Given the description of an element on the screen output the (x, y) to click on. 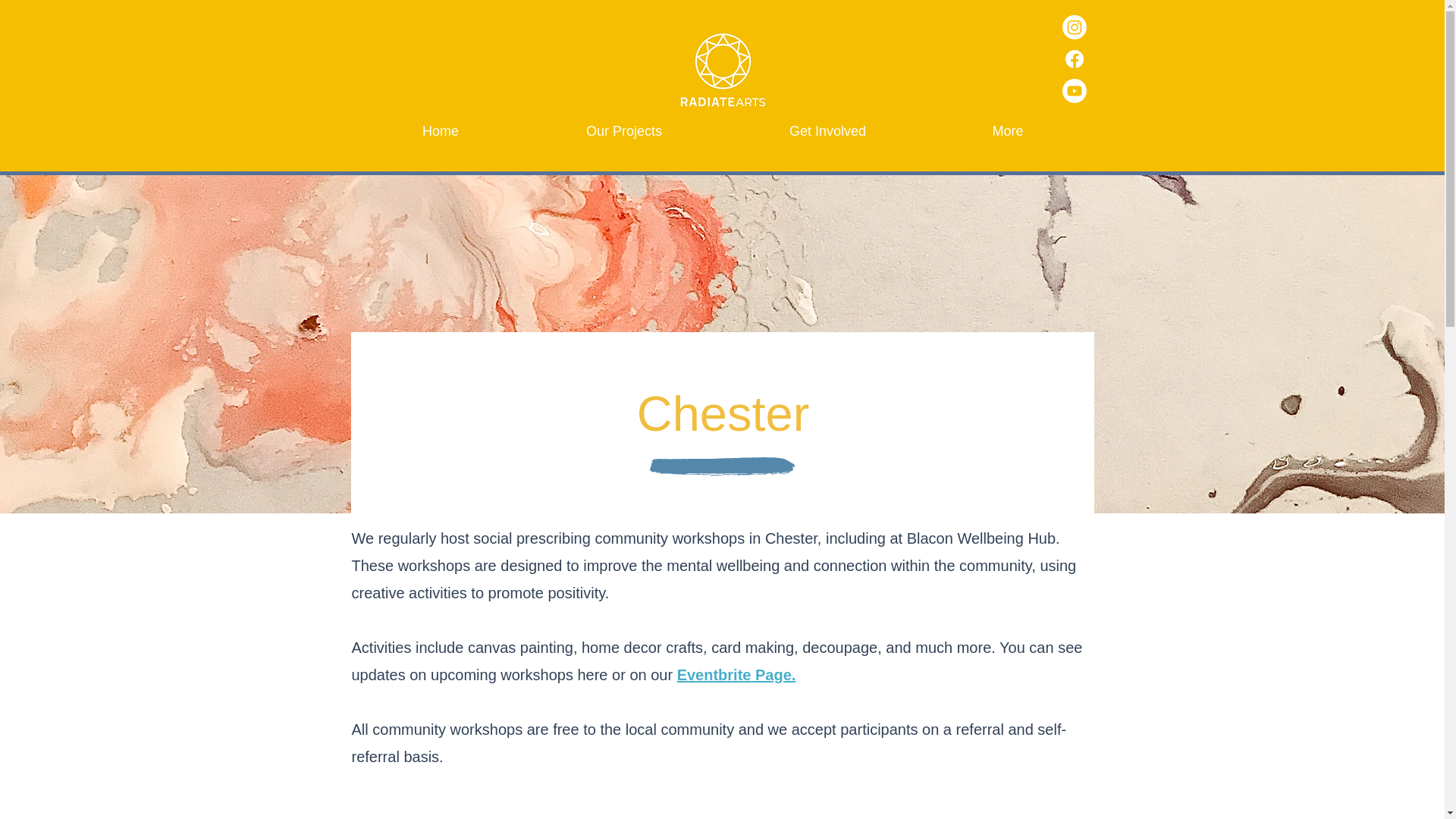
Our Projects (623, 130)
Home (440, 130)
Get Involved (828, 130)
Eventbrite Page. (736, 674)
